Given the description of an element on the screen output the (x, y) to click on. 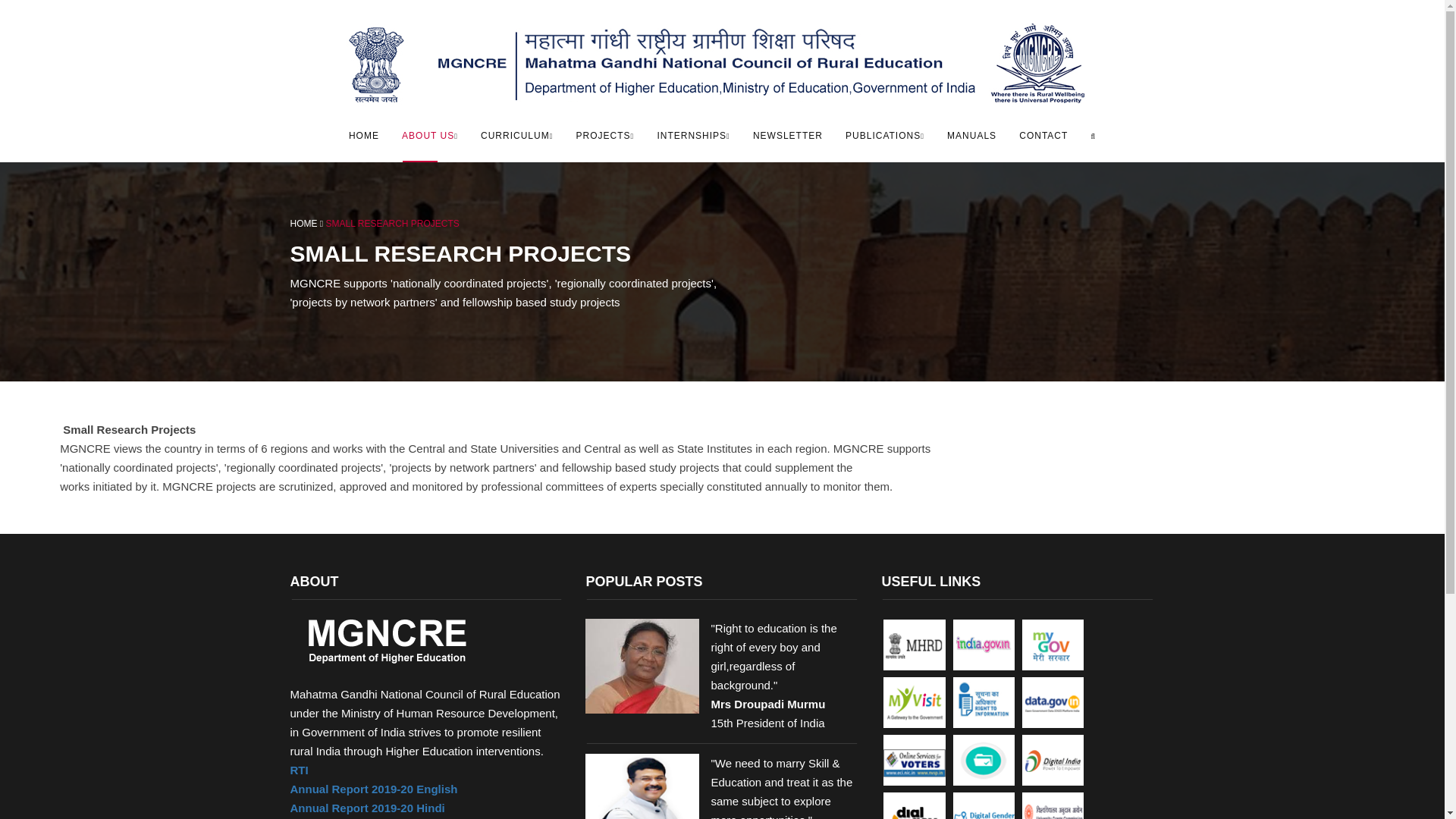
CURRICULUM (516, 135)
HOME (363, 135)
INTERNSHIPS (692, 135)
ABOUT US (429, 135)
PROJECTS (605, 135)
